Given the description of an element on the screen output the (x, y) to click on. 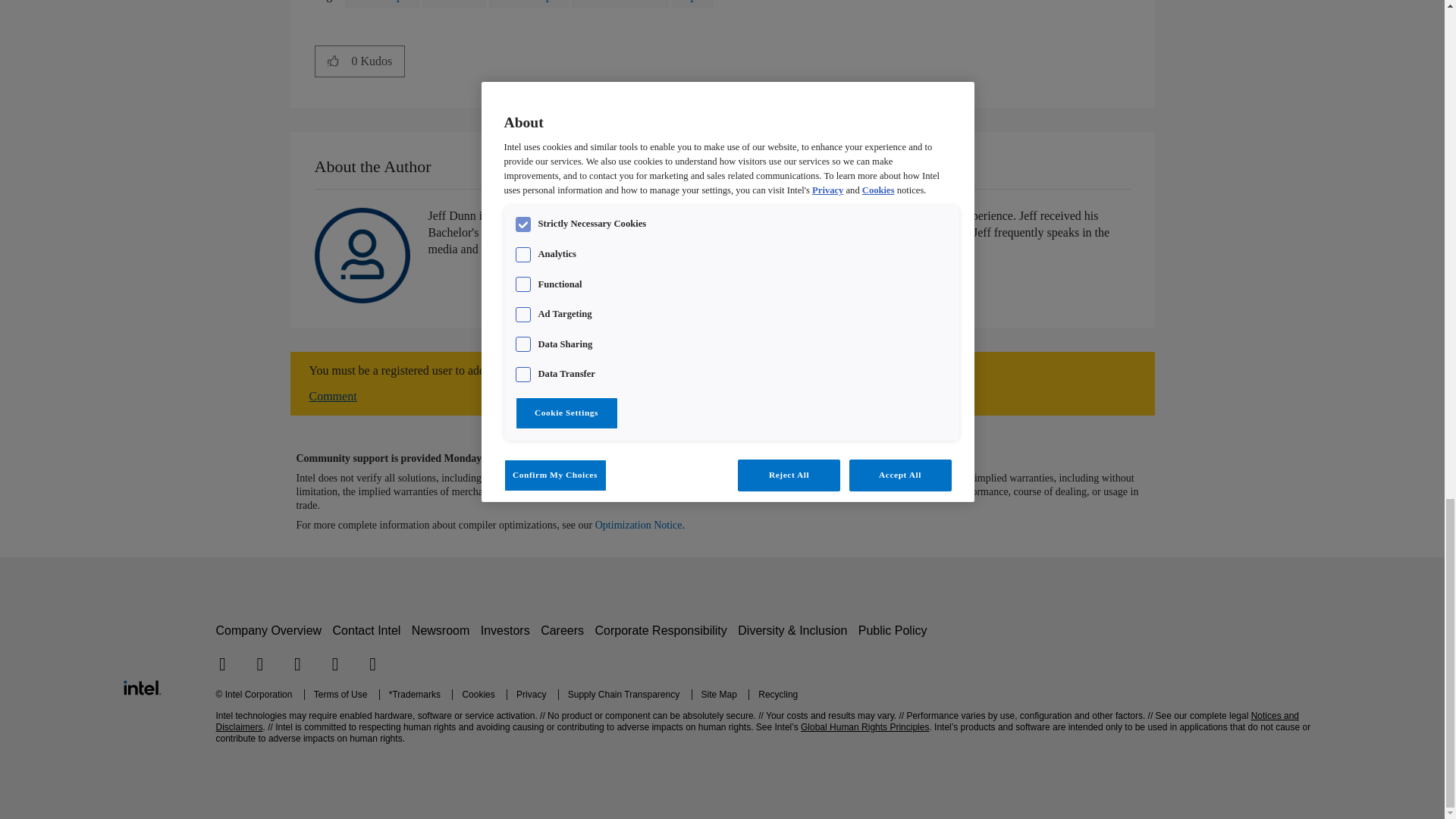
Click here to give kudos to this post. (332, 60)
Intel Footer Logo (141, 686)
The total number of kudos this post has received. (377, 60)
